Given the description of an element on the screen output the (x, y) to click on. 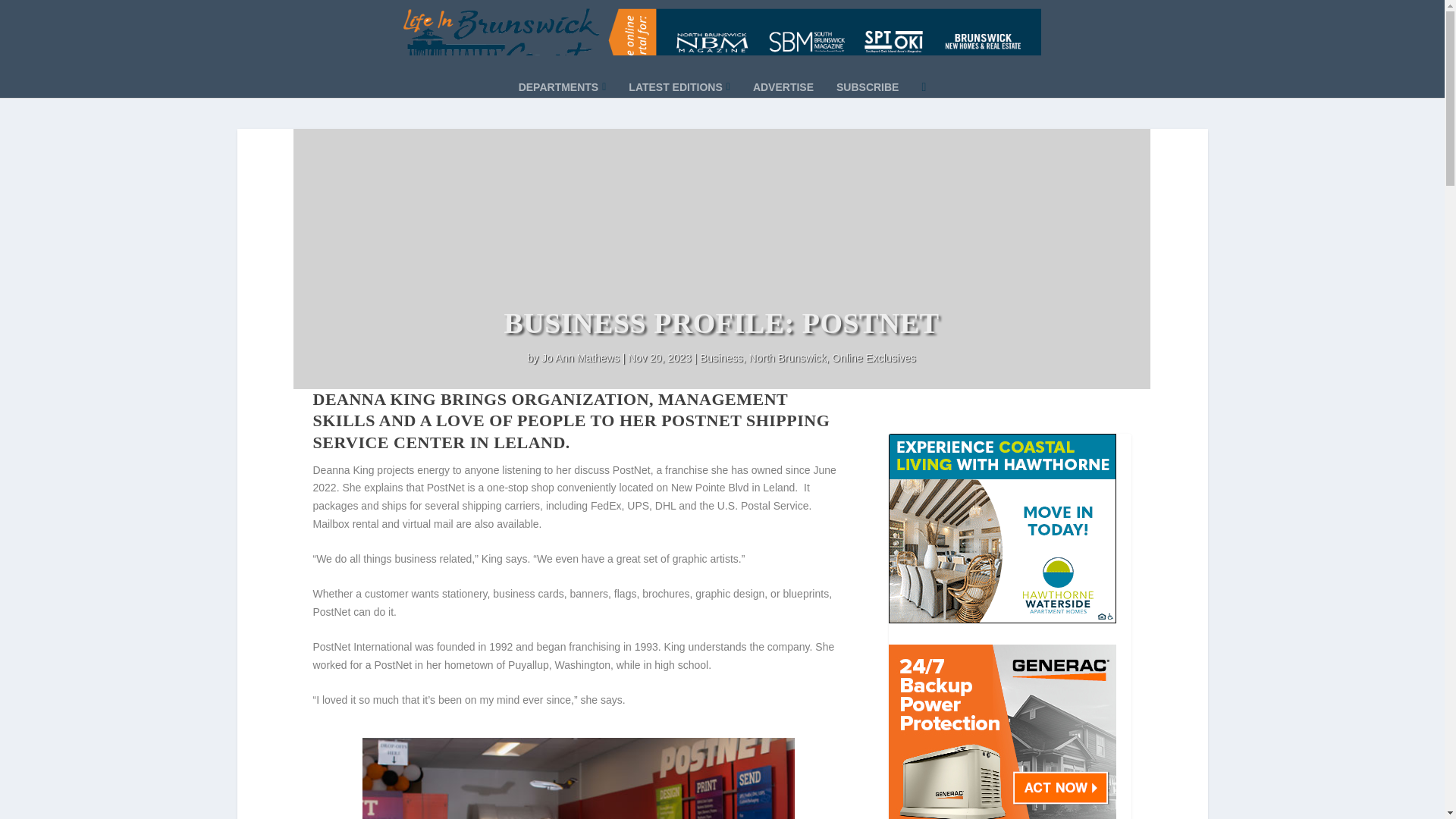
Posts by Jo Ann Mathews (580, 357)
SUBSCRIBE (866, 107)
North Brunswick (786, 357)
Online Exclusives (873, 357)
Business (721, 357)
LATEST EDITIONS (679, 107)
Jo Ann Mathews (580, 357)
DEPARTMENTS (562, 107)
ADVERTISE (782, 107)
Hawthorne at Waterside (1002, 530)
